Given the description of an element on the screen output the (x, y) to click on. 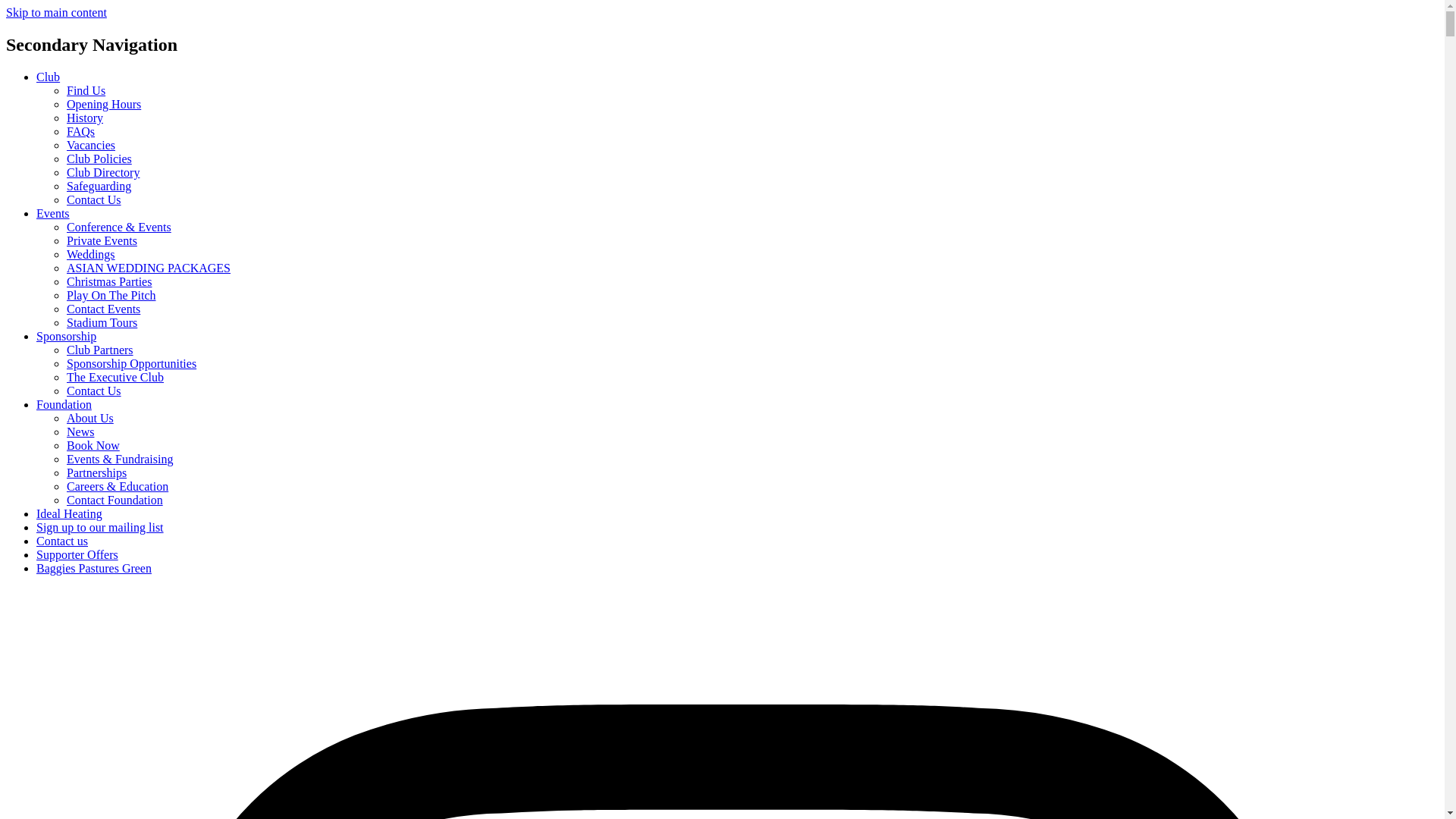
Contact The Albion Foundation (114, 499)
Sign up to our mailing list (99, 526)
Play On The Pitch (110, 295)
Contact Us (93, 390)
Stadium Tours (101, 322)
Opening Hours (103, 103)
Hold your event at The Hawthorns (118, 226)
Private Events (101, 240)
Sponsorship (66, 336)
Frequently Asked Questions (80, 131)
Skip to main content (55, 11)
ASIAN WEDDING PACKAGES (148, 267)
Club Partners (99, 349)
Celebrate Christmas at The Hawthorns (108, 281)
The Executive Club (114, 377)
